Given the description of an element on the screen output the (x, y) to click on. 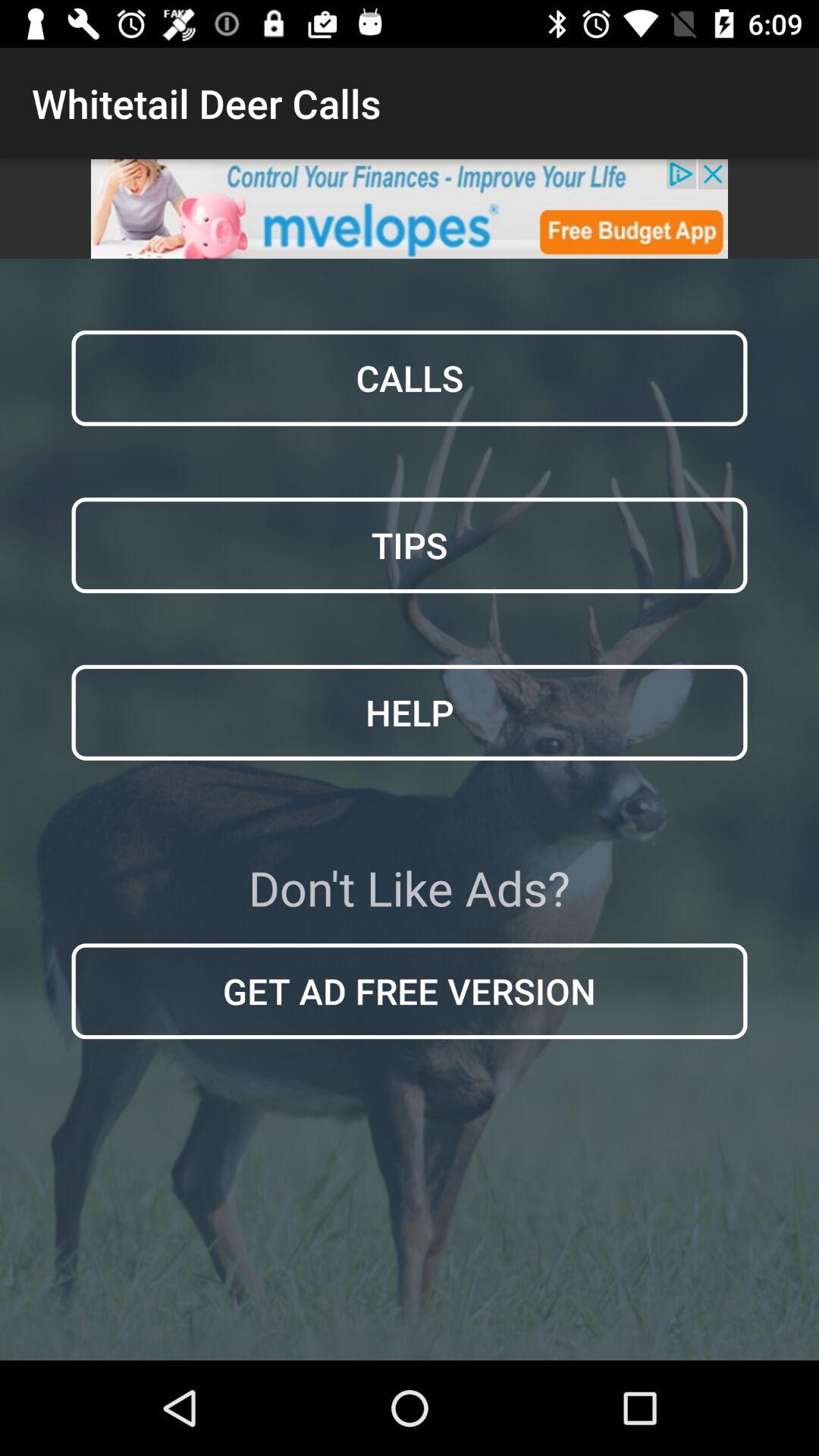
open advertisement (409, 208)
